Given the description of an element on the screen output the (x, y) to click on. 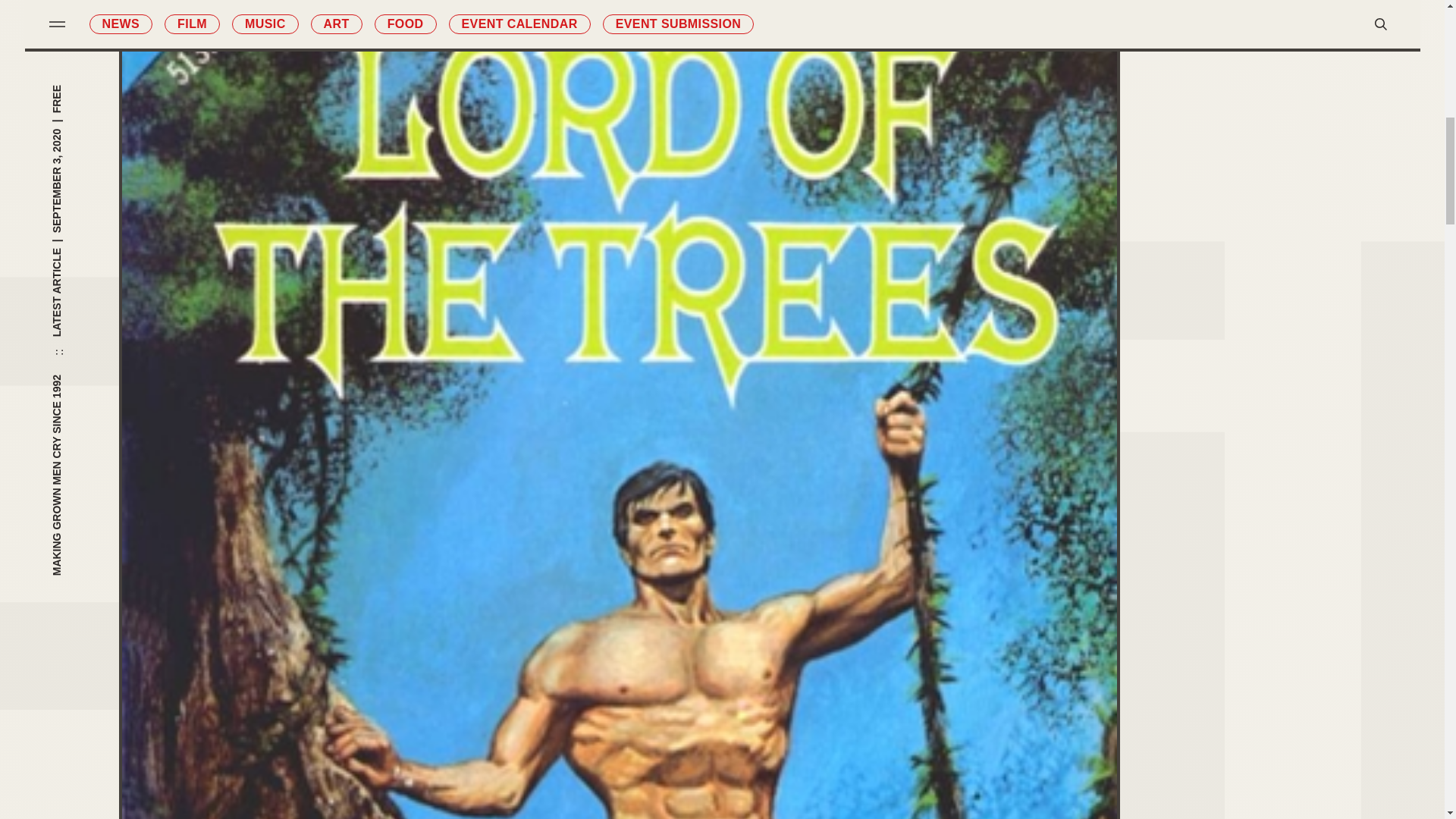
Advertisement (1280, 227)
